Given the description of an element on the screen output the (x, y) to click on. 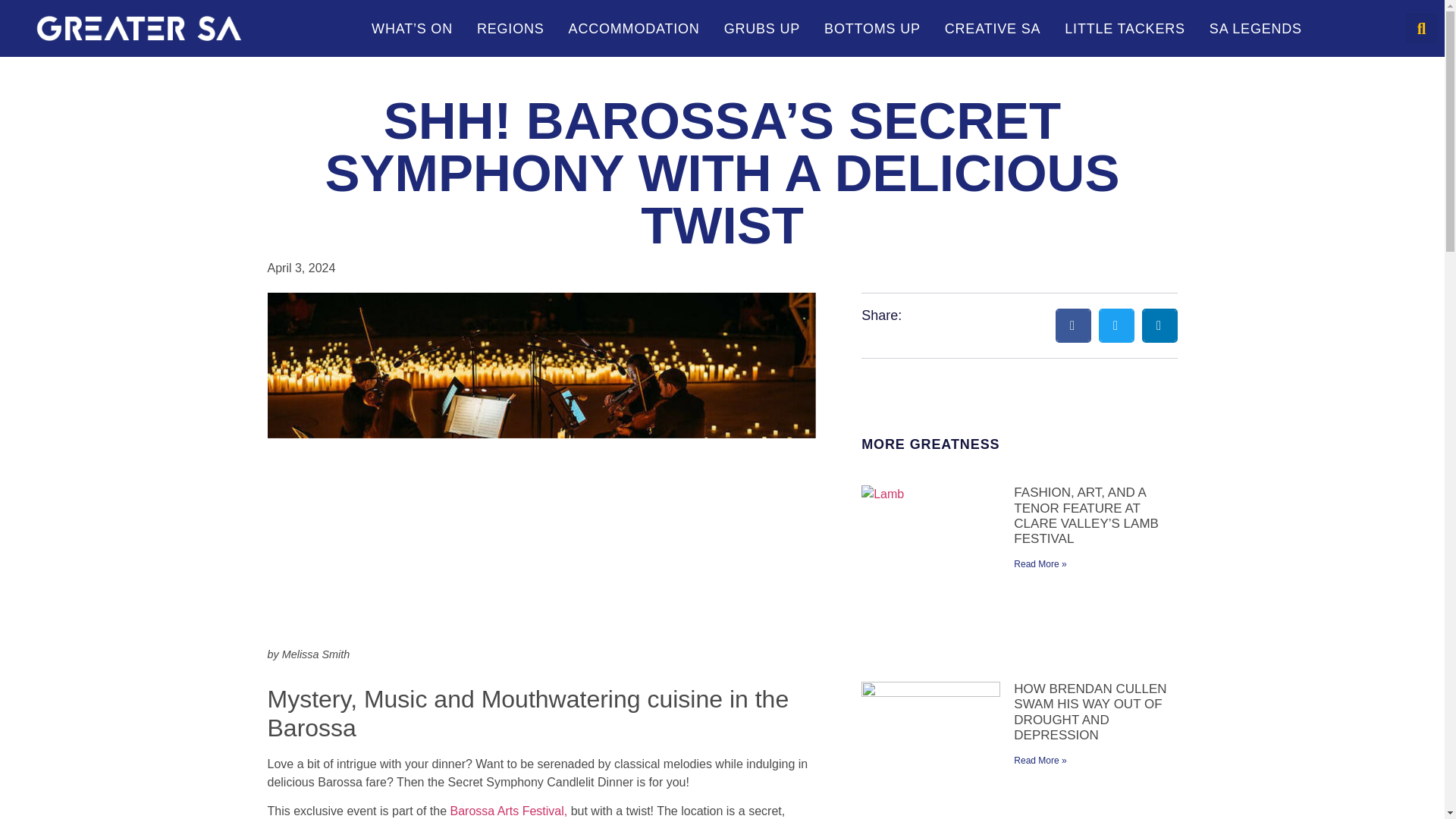
GRUBS UP (761, 28)
BOTTOMS UP (872, 28)
SA LEGENDS (1255, 28)
REGIONS (510, 28)
ACCOMMODATION (633, 28)
CREATIVE SA (992, 28)
LITTLE TACKERS (1124, 28)
